Given the description of an element on the screen output the (x, y) to click on. 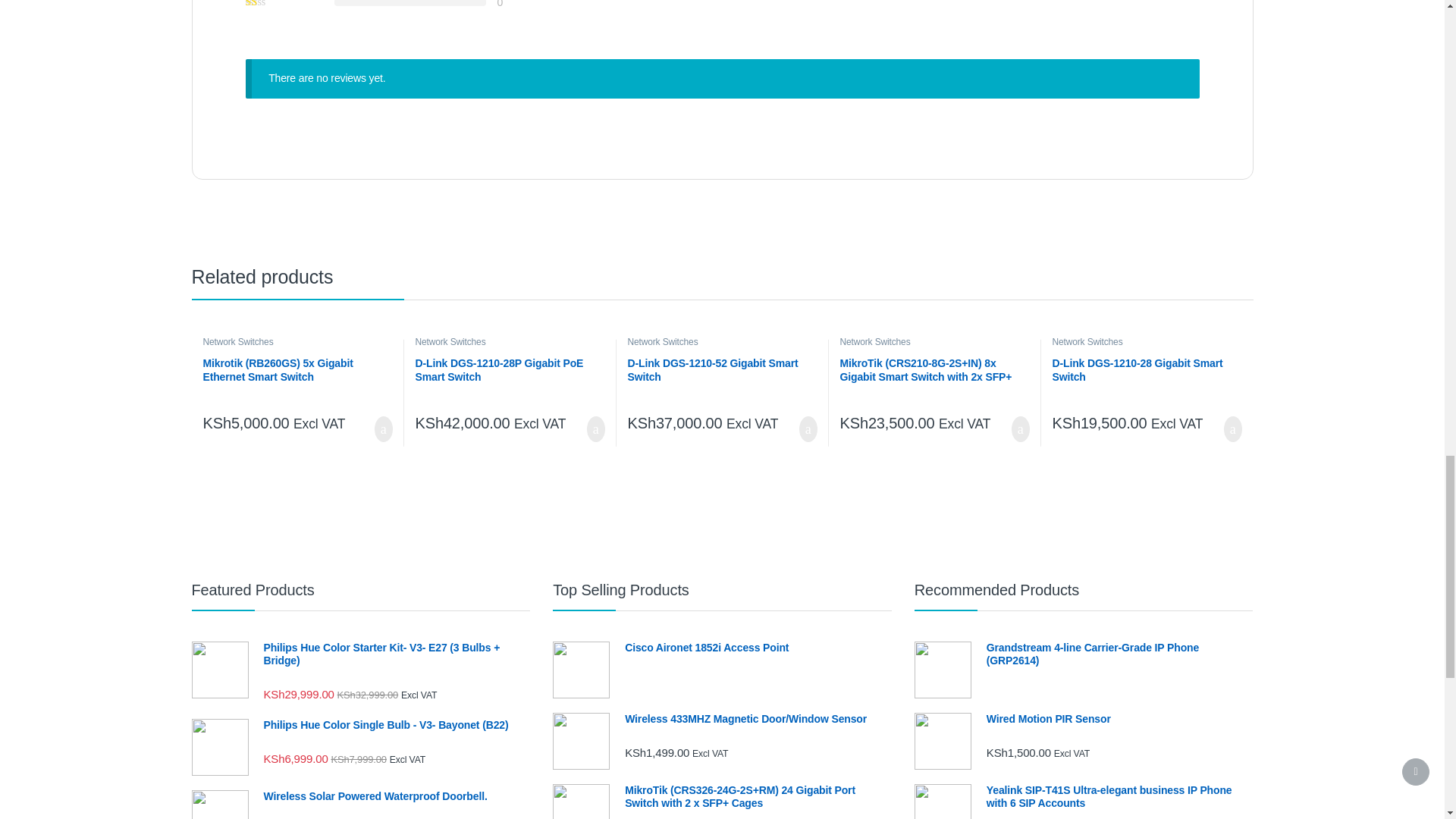
Rated 1 out of 5 (275, 3)
